Given the description of an element on the screen output the (x, y) to click on. 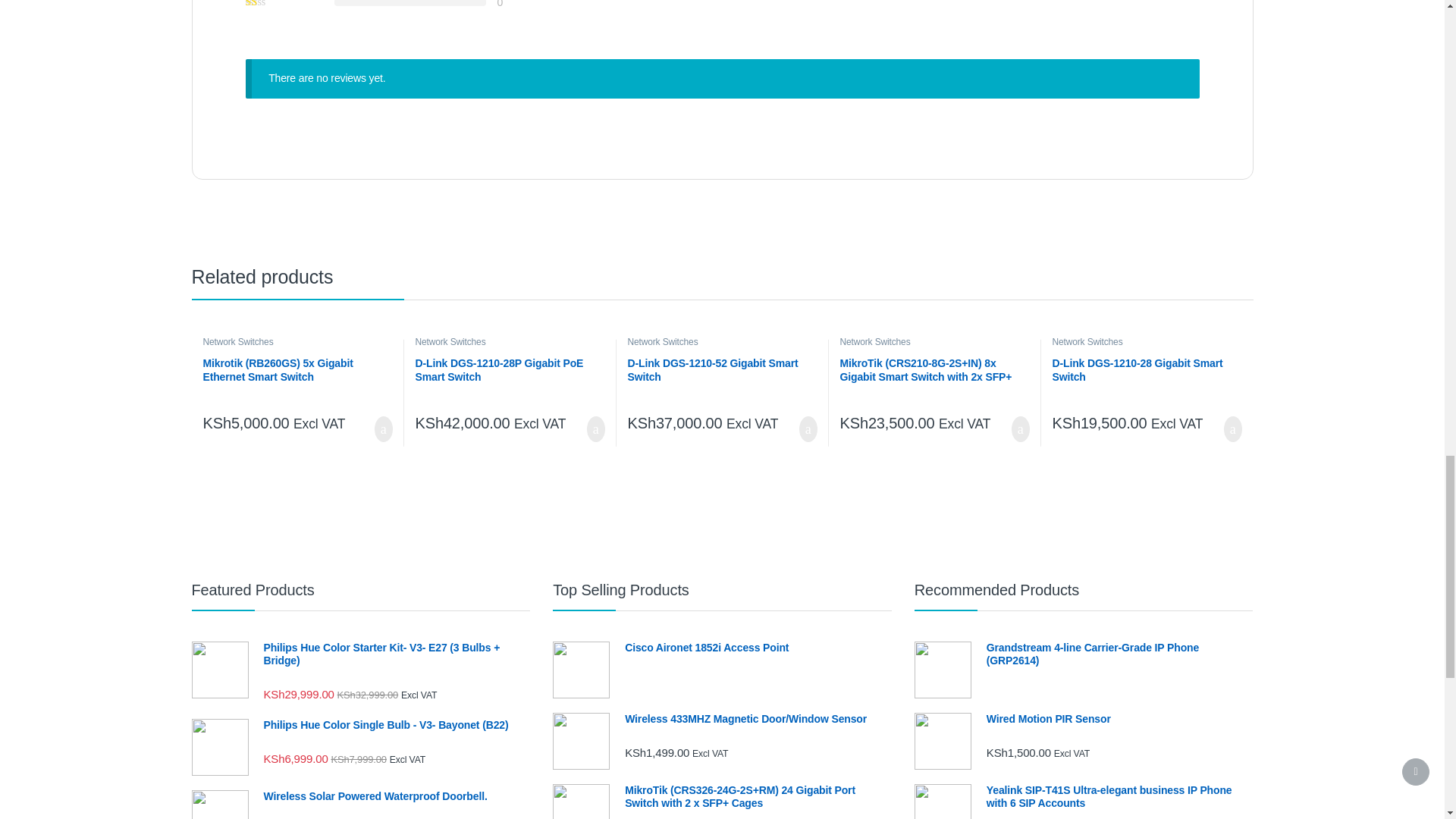
Rated 1 out of 5 (275, 3)
